Given the description of an element on the screen output the (x, y) to click on. 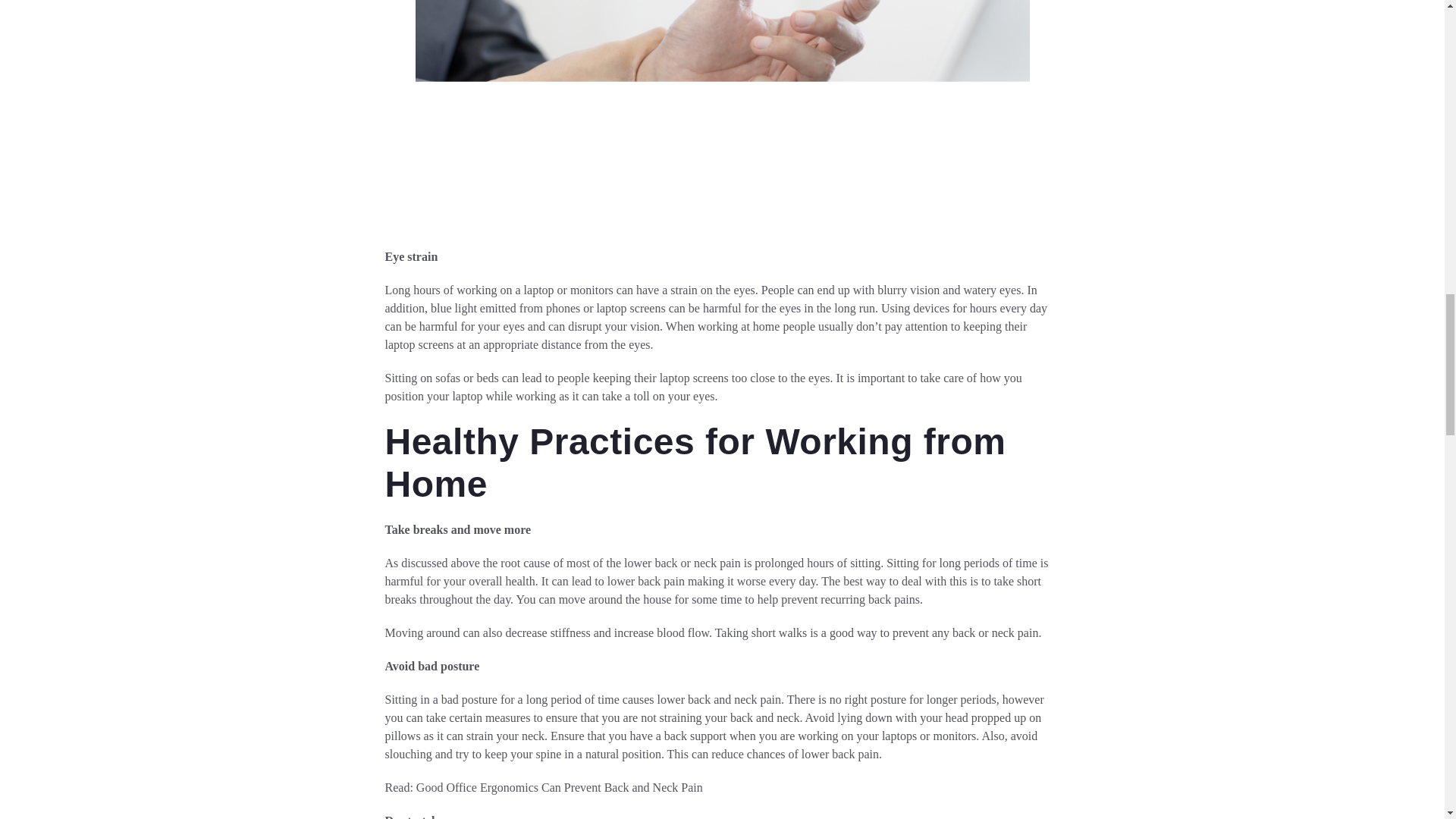
Good Office Ergonomics Can Prevent Back and Neck Pain (559, 787)
